Given the description of an element on the screen output the (x, y) to click on. 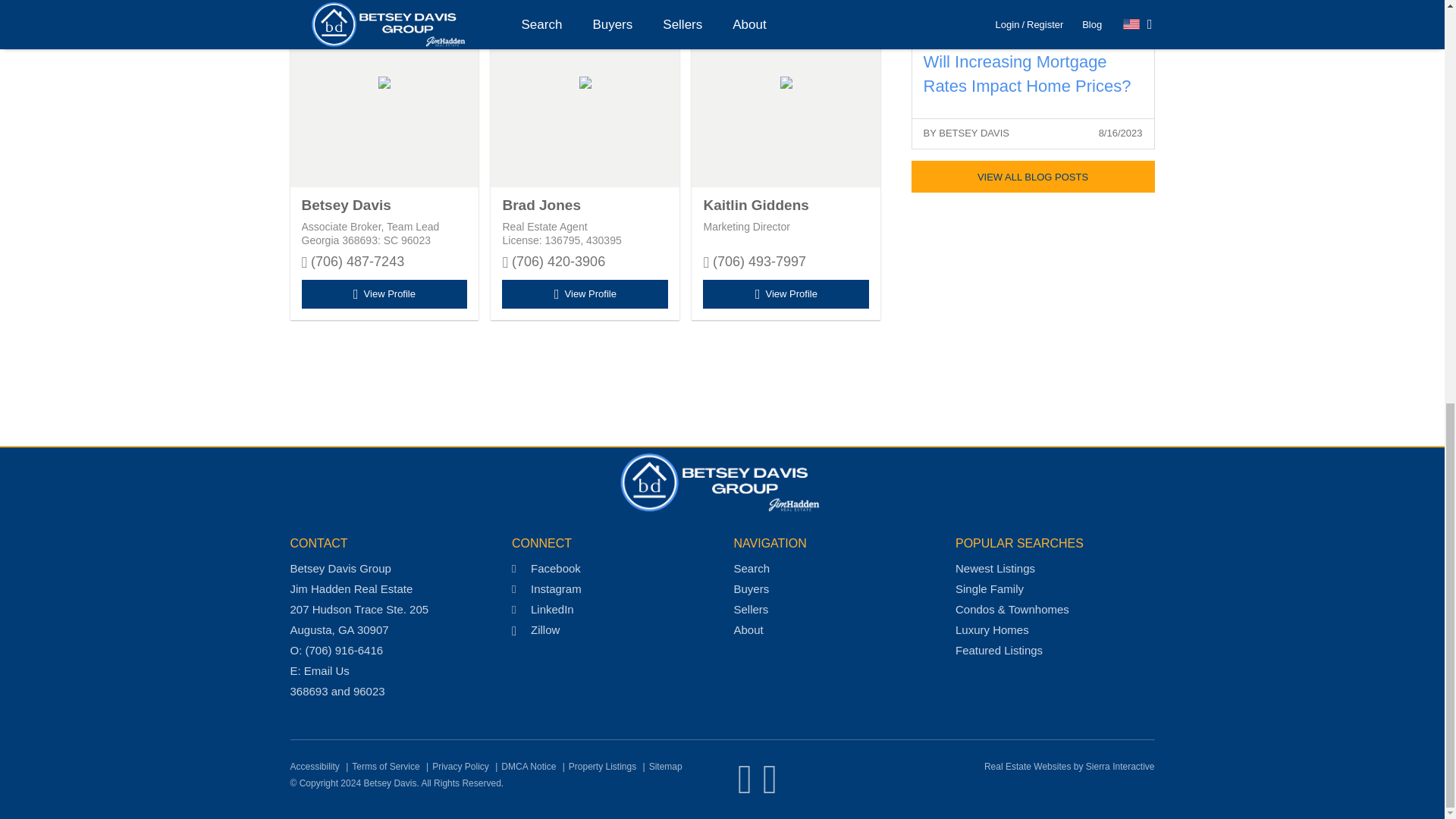
Betsey Davis (346, 205)
